Given the description of an element on the screen output the (x, y) to click on. 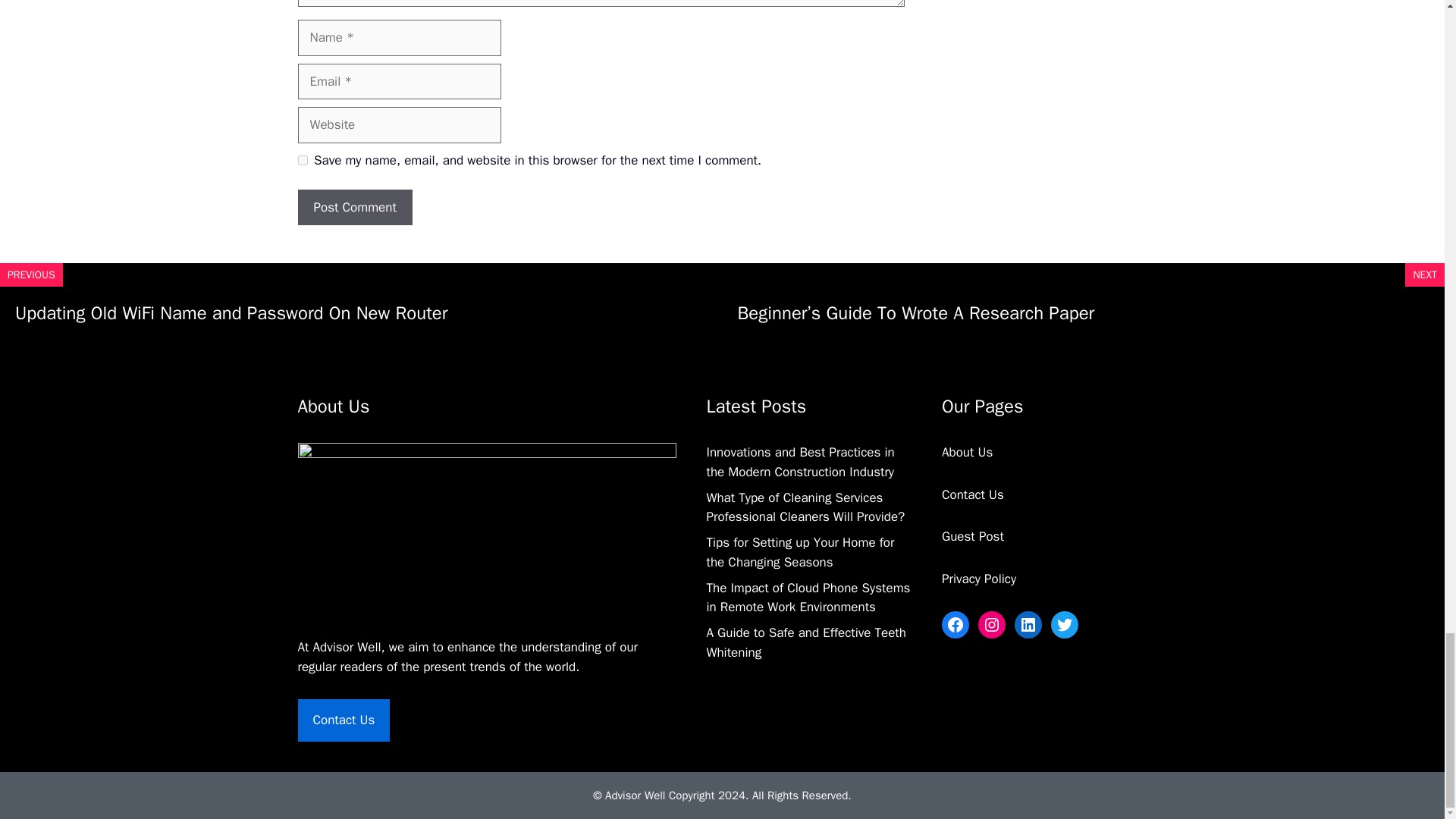
Post Comment (354, 207)
Contact Us (343, 720)
Tips for Setting up Your Home for the Changing Seasons (800, 552)
yes (302, 160)
Post Comment (354, 207)
Updating Old WiFi Name and Password On New Router (230, 313)
Advisor Well (347, 647)
